Given the description of an element on the screen output the (x, y) to click on. 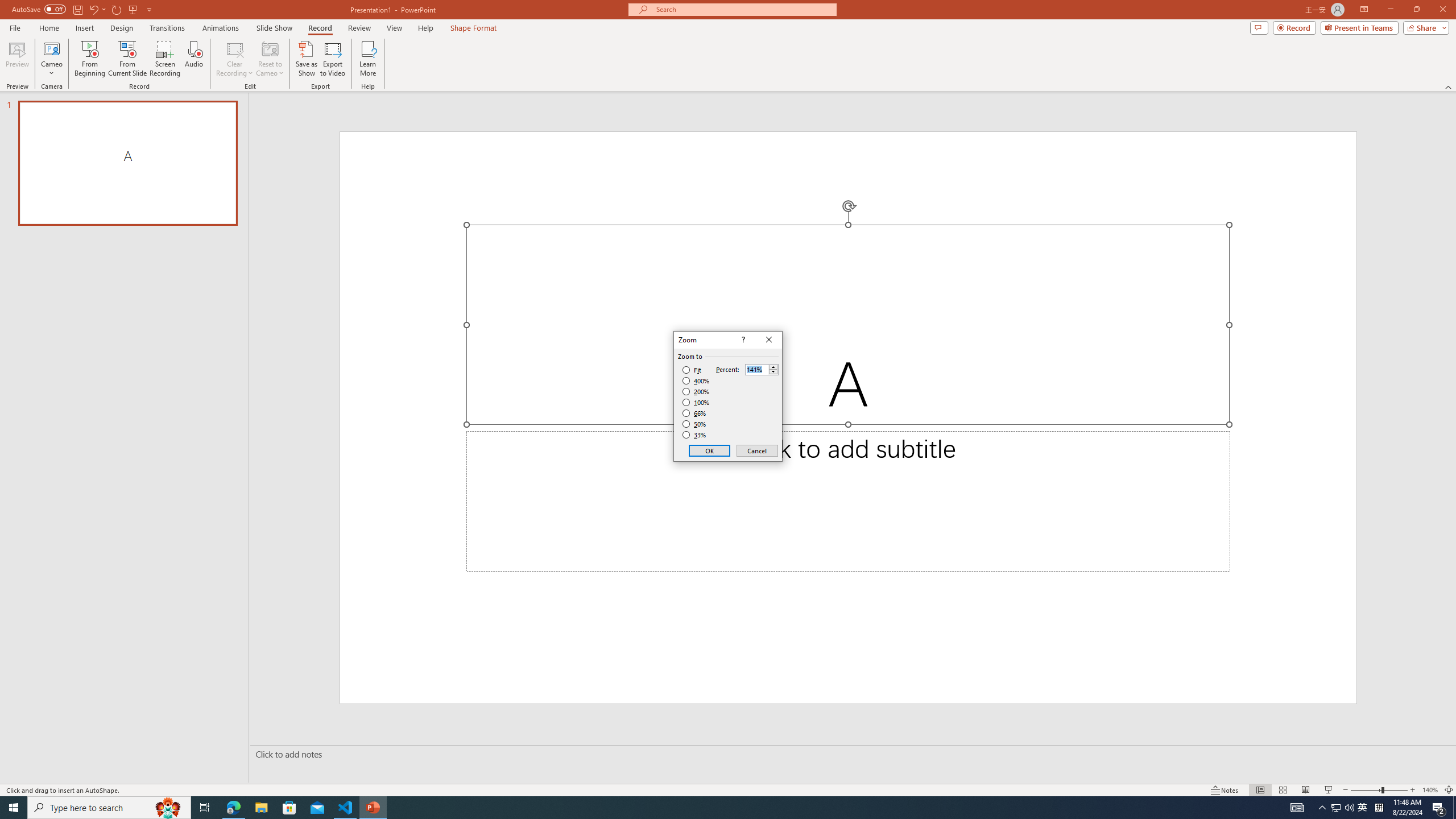
Zoom 140% (1430, 790)
